Given the description of an element on the screen output the (x, y) to click on. 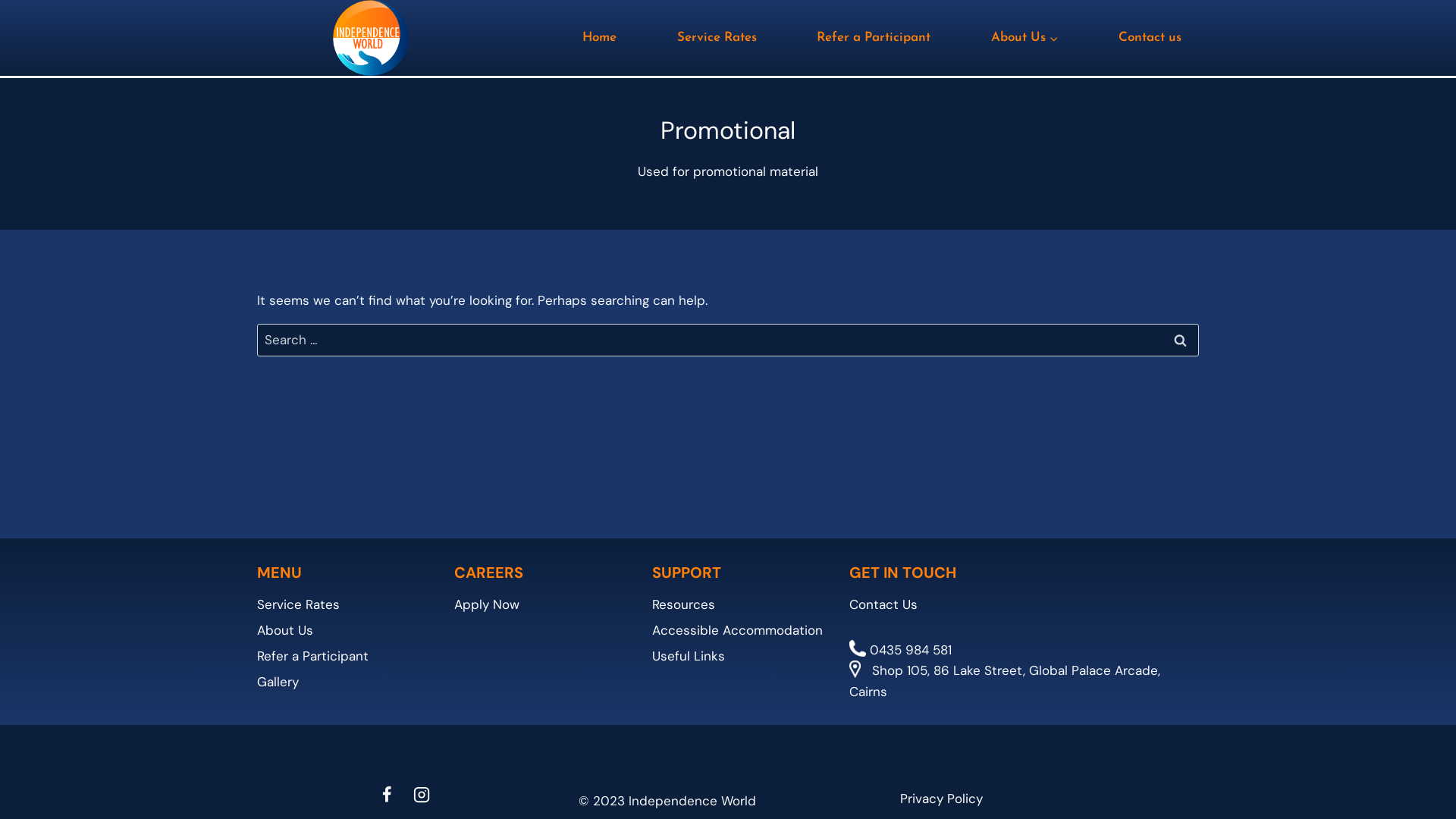
Contact Us Element type: text (1023, 604)
Privacy Policy Element type: text (1049, 798)
Contact us Element type: text (1149, 37)
Accessible Accommodation Element type: text (739, 630)
Service Rates Element type: text (716, 37)
Gallery Element type: text (344, 681)
Resources Element type: text (739, 604)
Home Element type: text (599, 37)
About Us Element type: text (344, 630)
Refer a Participant Element type: text (873, 37)
Apply Now Element type: text (541, 604)
Service Rates Element type: text (344, 604)
Refer a Participant Element type: text (344, 655)
About Us Element type: text (1024, 37)
Useful Links Element type: text (739, 655)
Search Element type: text (1179, 339)
